Given the description of an element on the screen output the (x, y) to click on. 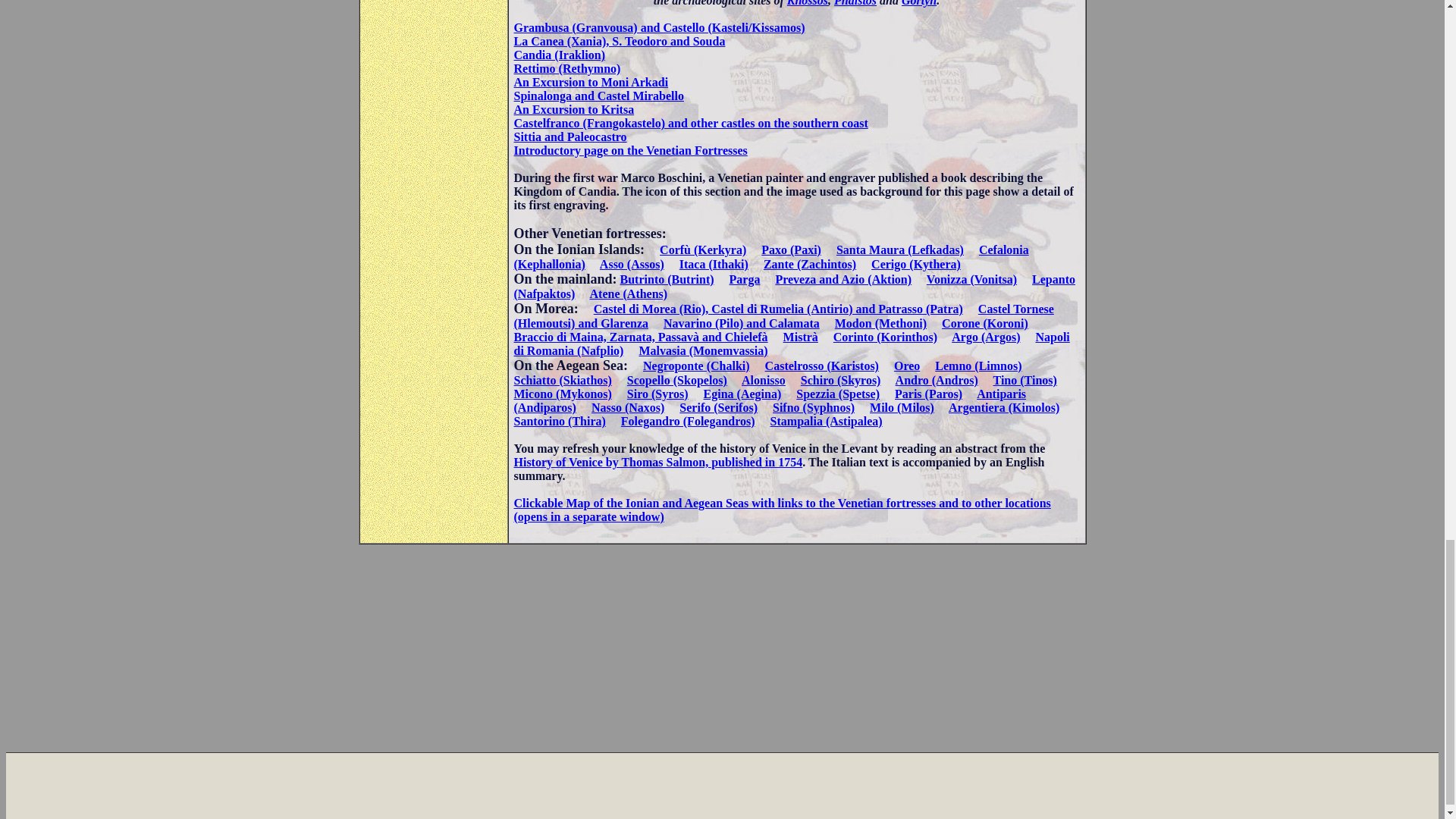
Spinalonga and Castel Mirabello (598, 95)
Introductory page on the Venetian Fortresses (630, 150)
Gortyn (918, 3)
Knossos (807, 3)
Phaistos (855, 3)
An Excursion to Kritsa (573, 109)
An Excursion to Moni Arkadi (590, 82)
Sittia and Paleocastro (570, 136)
